Given the description of an element on the screen output the (x, y) to click on. 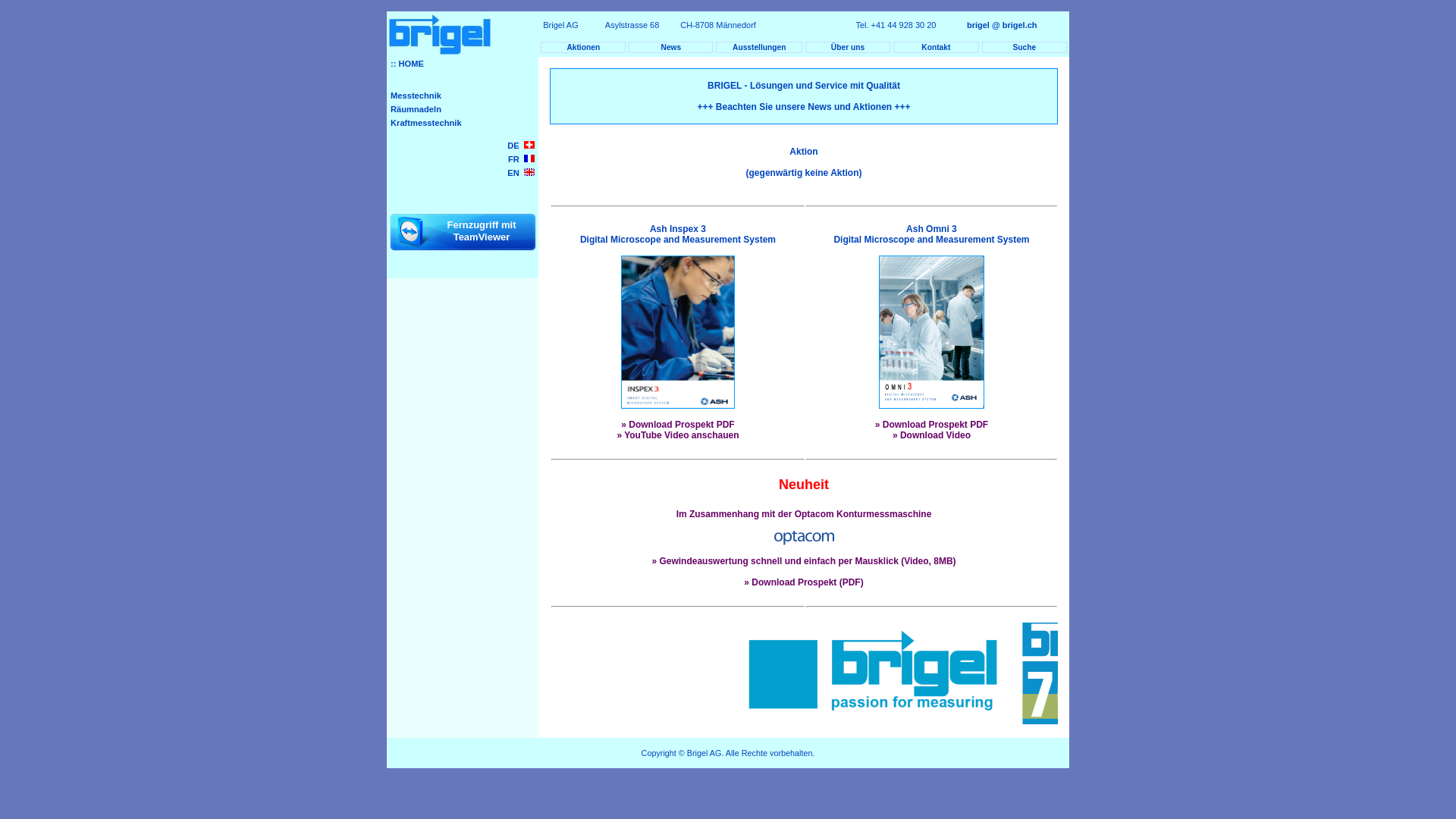
EN  Element type: text (462, 172)
News Element type: text (670, 47)
Kraftmesstechnik Element type: text (462, 122)
Im Zusammenhang mit der Optacom Konturmessmaschine Element type: text (803, 513)
Suche Element type: text (1024, 47)
Ausstellungen Element type: text (758, 47)
Kontakt Element type: text (936, 47)
Fernzugriff mit
TeamViewer Element type: text (462, 231)
FR  Element type: text (462, 159)
DE  Element type: text (462, 145)
Messtechnik Element type: text (462, 95)
brigel @ brigel.ch Element type: text (1001, 24)
:: HOME Element type: text (462, 63)
Aktionen Element type: text (582, 47)
